Given the description of an element on the screen output the (x, y) to click on. 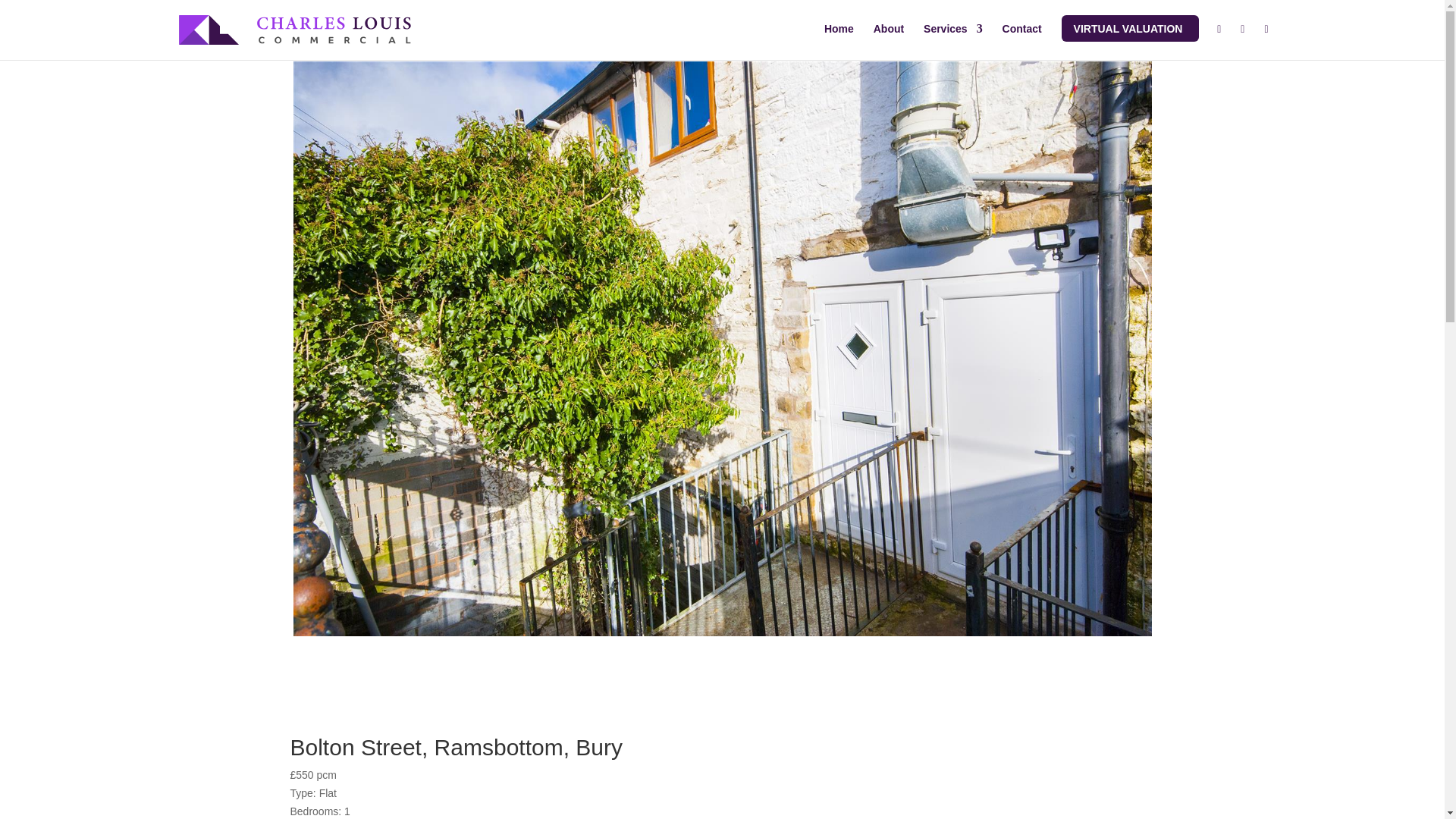
Services (952, 40)
Contact (1022, 40)
VIRTUAL VALUATION (1128, 27)
